Given the description of an element on the screen output the (x, y) to click on. 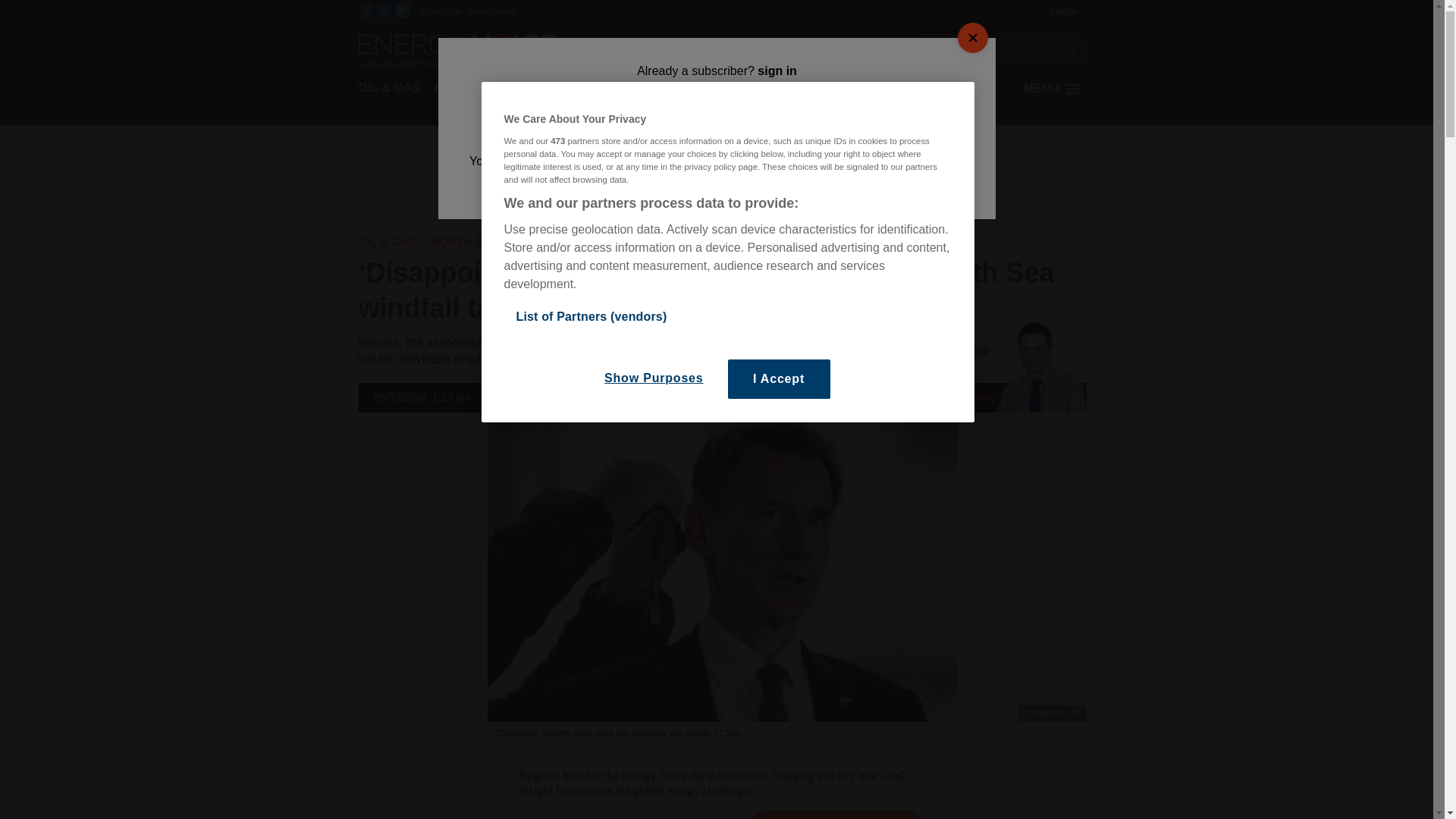
LinkedIn (383, 10)
ENERGY TRANSITION (498, 87)
Facebook (365, 10)
Energy Voice (456, 49)
Twitter (927, 351)
MENU (1054, 87)
Email (982, 351)
Twitter (401, 10)
Newsletter (491, 11)
MARKETS (607, 87)
Search (987, 50)
Allister Thomas (946, 397)
Login (1064, 11)
Linkedin (955, 351)
Facebook (900, 351)
